Given the description of an element on the screen output the (x, y) to click on. 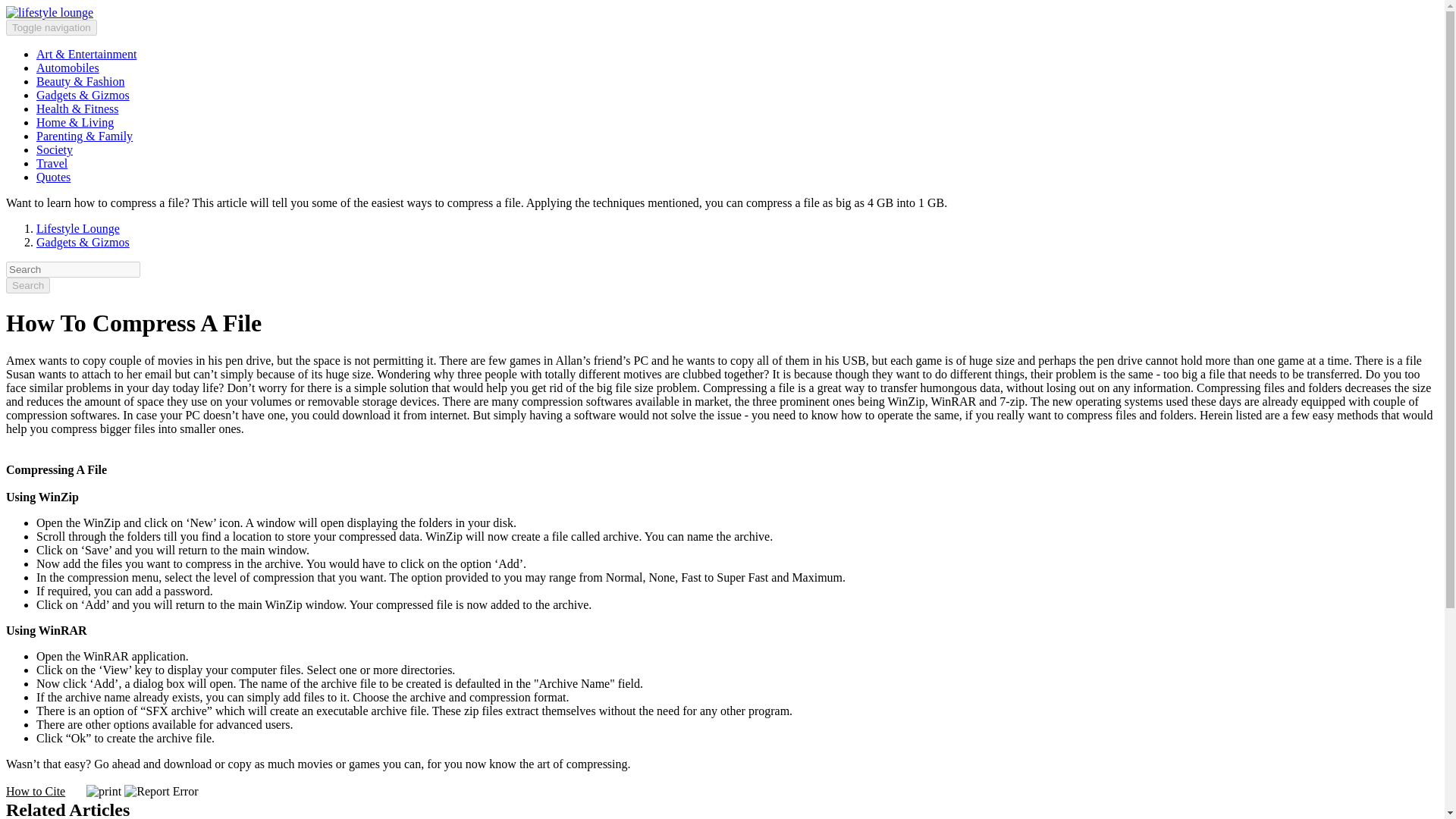
Search (27, 285)
Automobiles (67, 67)
Travel (51, 163)
Society (54, 149)
Toggle navigation (51, 27)
Lifestyle Lounge (77, 228)
Quotes (52, 176)
